Given the description of an element on the screen output the (x, y) to click on. 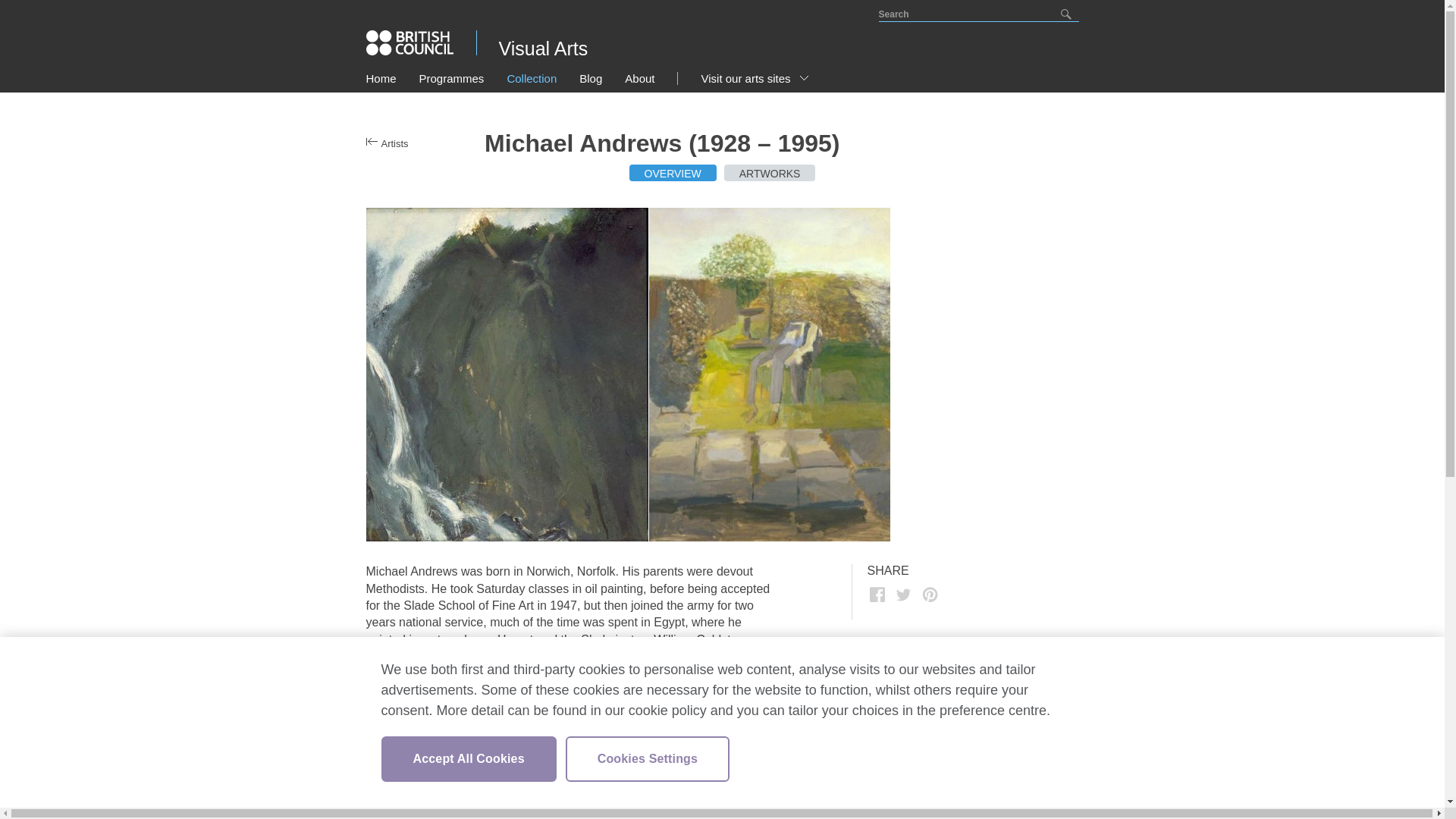
Search (1066, 14)
Home (380, 78)
Go to About (638, 78)
Visit our arts sites (754, 78)
Programmes (451, 78)
Go to Collection (531, 78)
Go to Blog (590, 78)
Go to Programmes (451, 78)
Collection (531, 78)
OVERVIEW (672, 172)
